Given the description of an element on the screen output the (x, y) to click on. 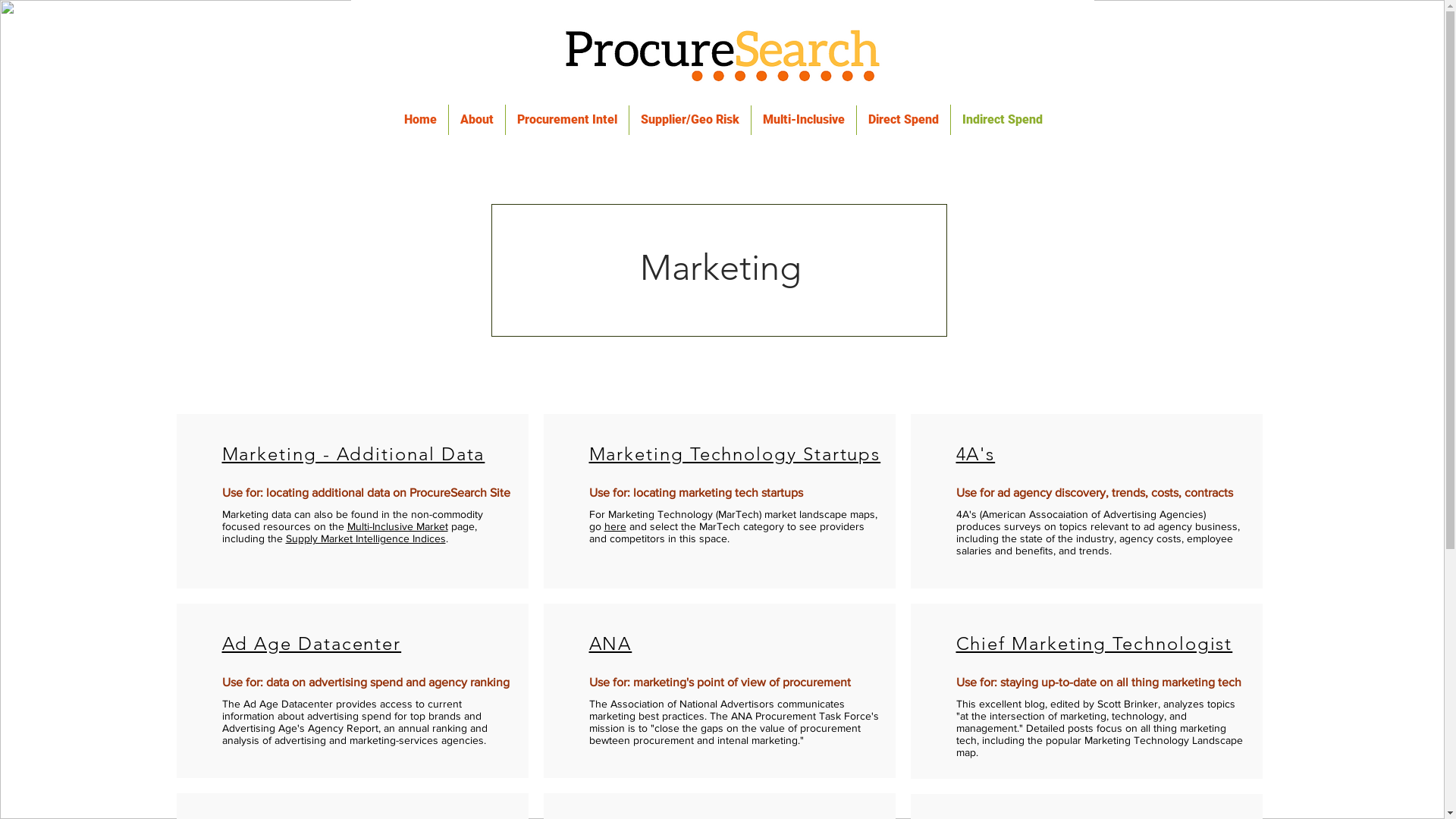
Multi-Inclusive Market Element type: text (397, 526)
Procurement Intel Element type: text (566, 119)
Home Element type: text (420, 119)
Ad Age Datacenter Element type: text (311, 643)
Chief Marketing Technologist Element type: text (1093, 643)
Supply Market Intelligence Indices Element type: text (365, 538)
Supplier/Geo Risk Element type: text (689, 119)
Direct Spend Element type: text (903, 119)
About Element type: text (476, 119)
Multi-Inclusive Element type: text (802, 119)
ANA Element type: text (609, 643)
Marketing Technology Startups Element type: text (734, 453)
4A's Element type: text (974, 453)
Indirect Spend Element type: text (1002, 119)
here Element type: text (614, 526)
